Given the description of an element on the screen output the (x, y) to click on. 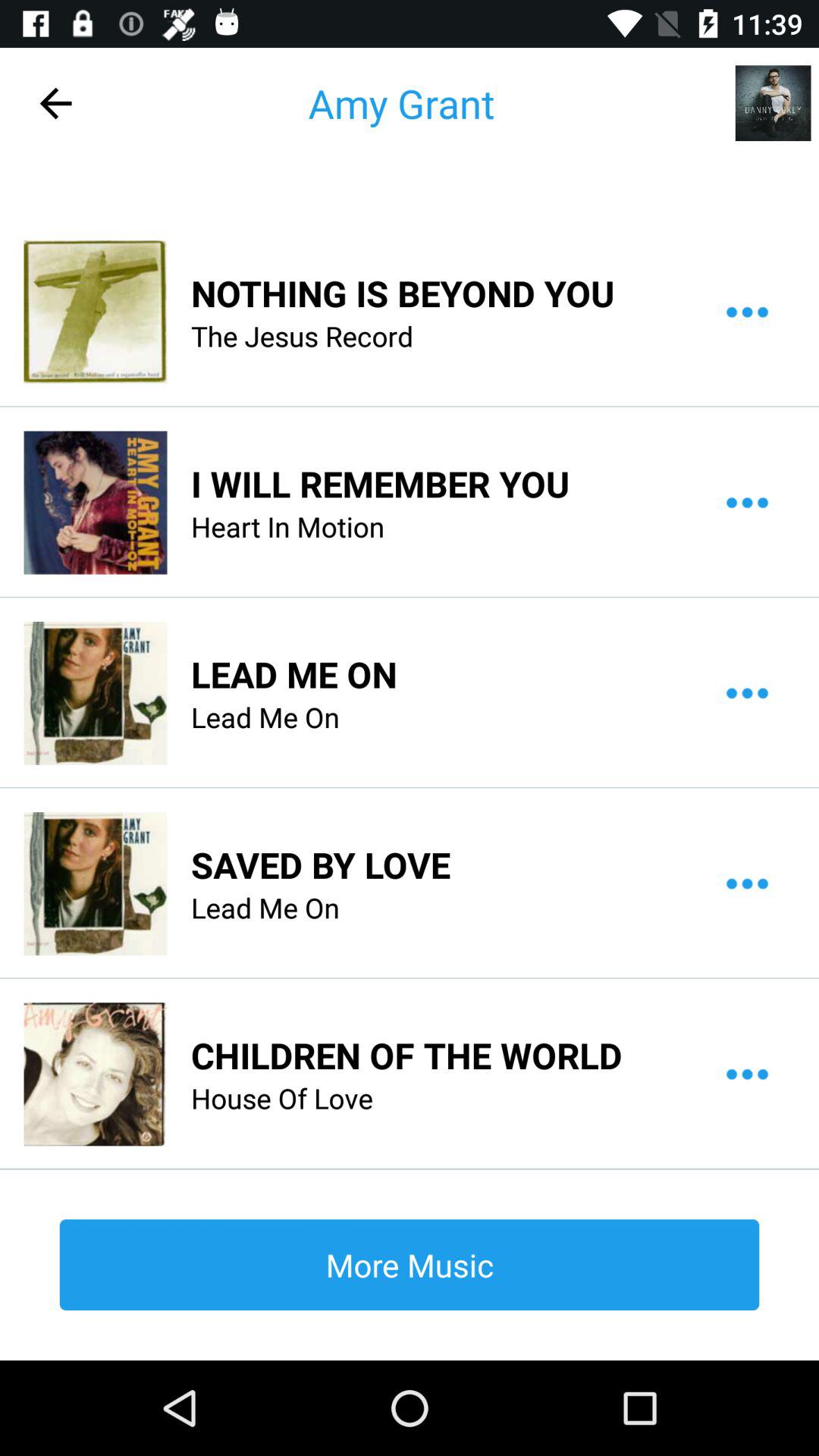
swipe until saved by love (320, 864)
